Given the description of an element on the screen output the (x, y) to click on. 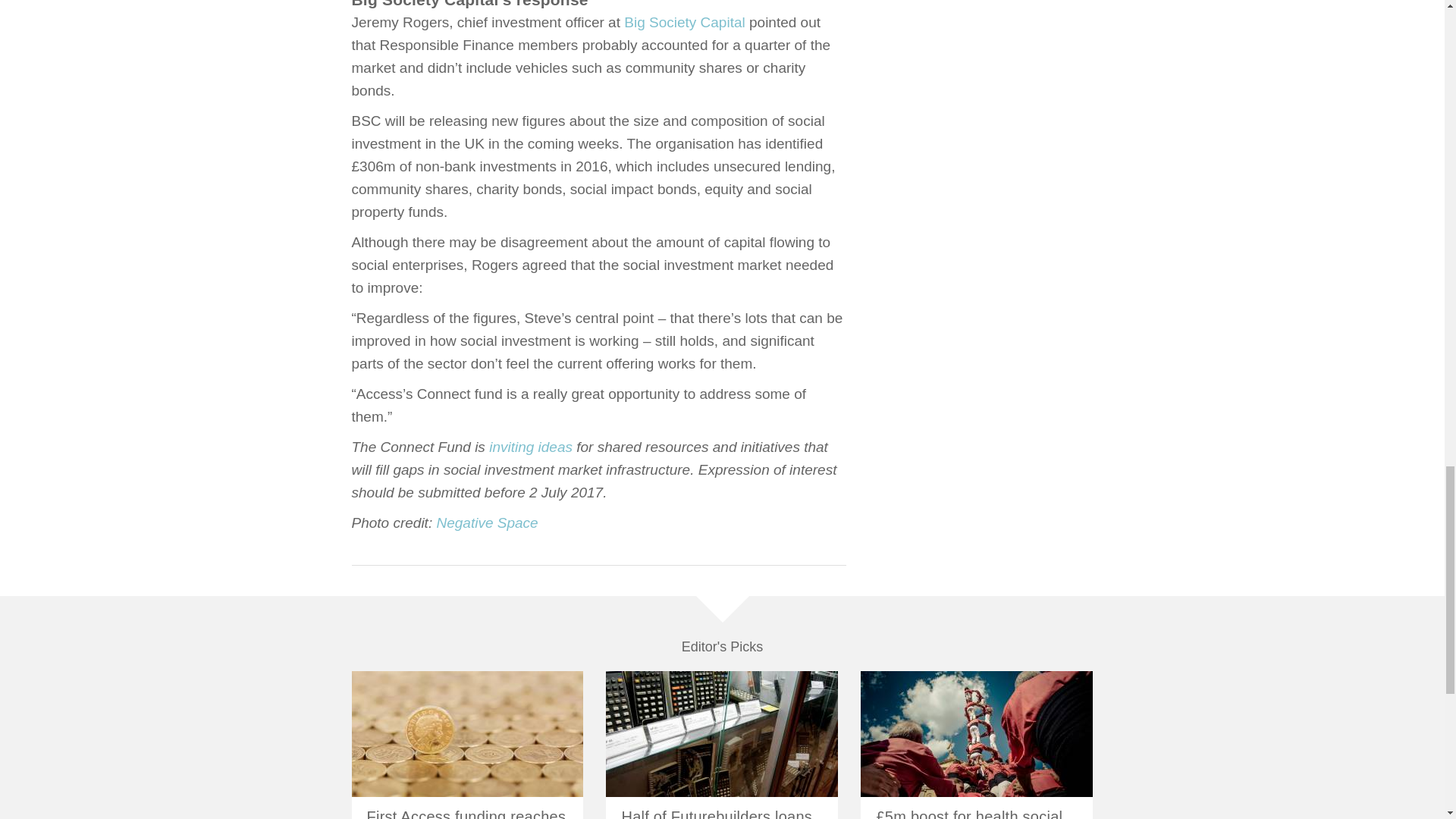
Access Foundation (976, 733)
Big Society Capital (684, 22)
Half of Futurebuilders loans now repaid (716, 813)
inviting ideas (530, 446)
Negative Space (486, 522)
First Access funding reaches frontline (466, 813)
